Given the description of an element on the screen output the (x, y) to click on. 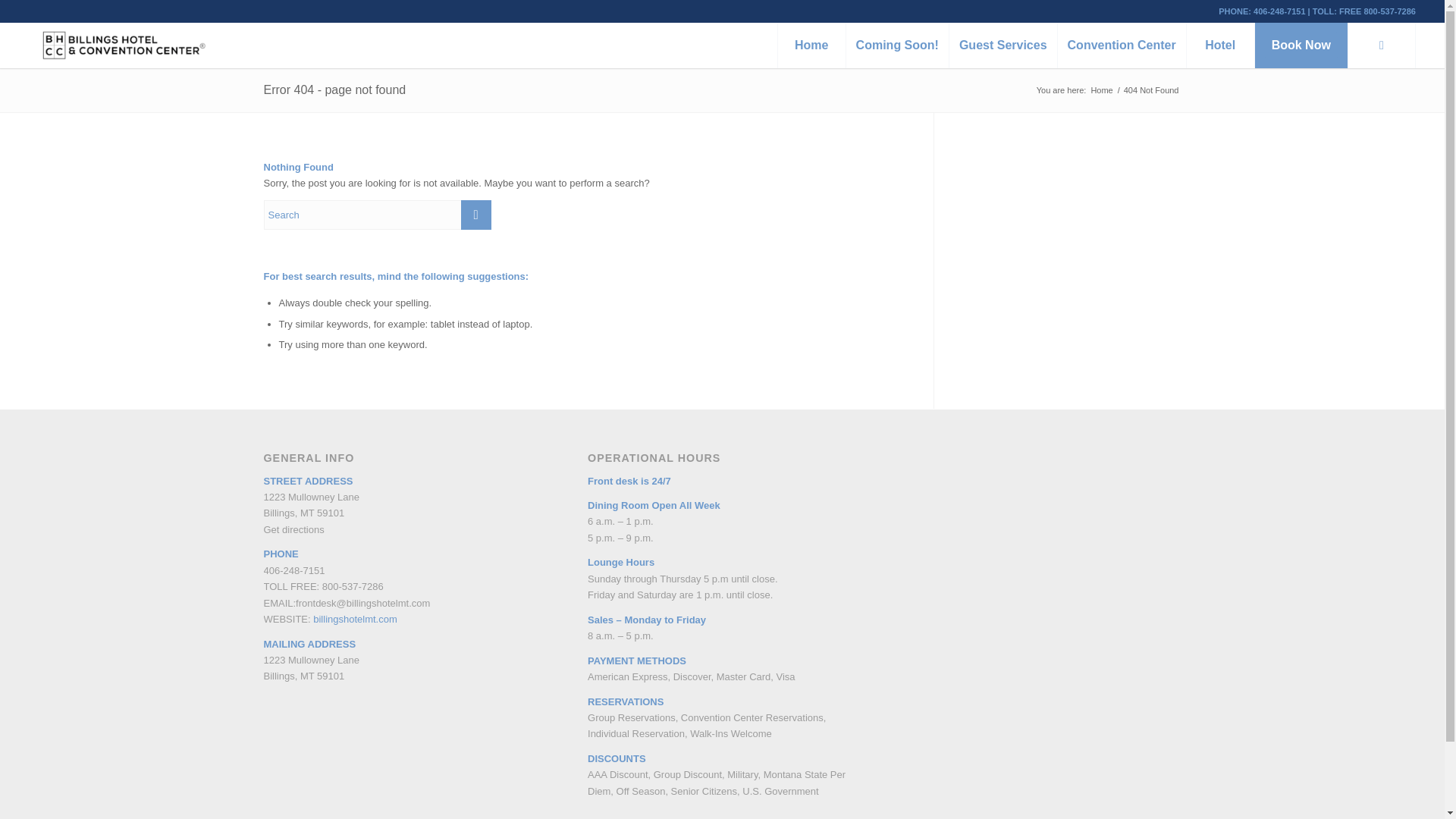
Home (1101, 90)
Hotel (1219, 44)
Book Now (1300, 44)
billingshotelmt.com (355, 618)
Coming Soon! (897, 44)
Guest Services (1003, 44)
Home (811, 44)
Convention Center (1121, 44)
